Given the description of an element on the screen output the (x, y) to click on. 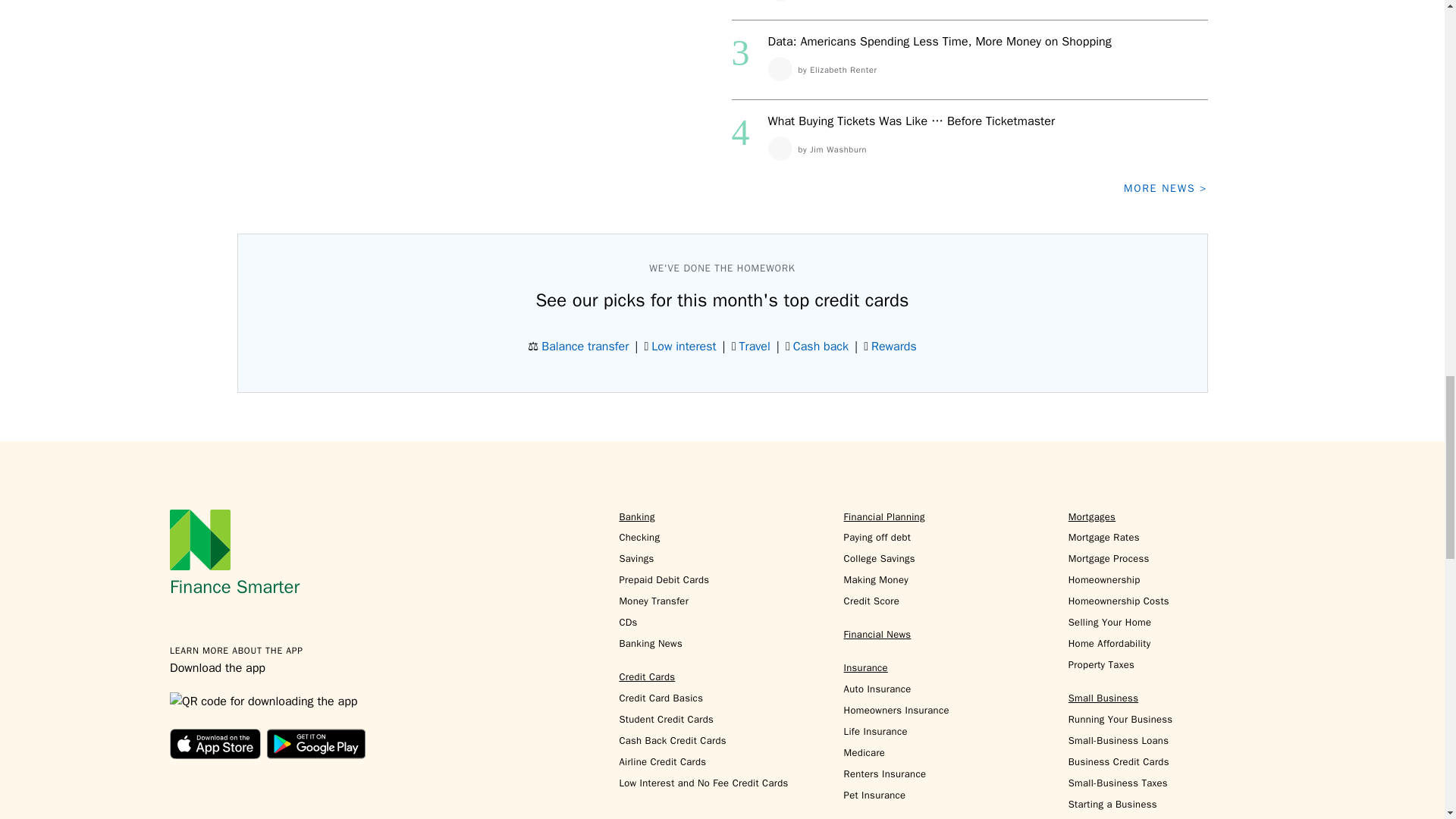
NerdWallet Home Page (200, 539)
Get it on Google Play (315, 743)
Download on the App Store (215, 743)
